Given the description of an element on the screen output the (x, y) to click on. 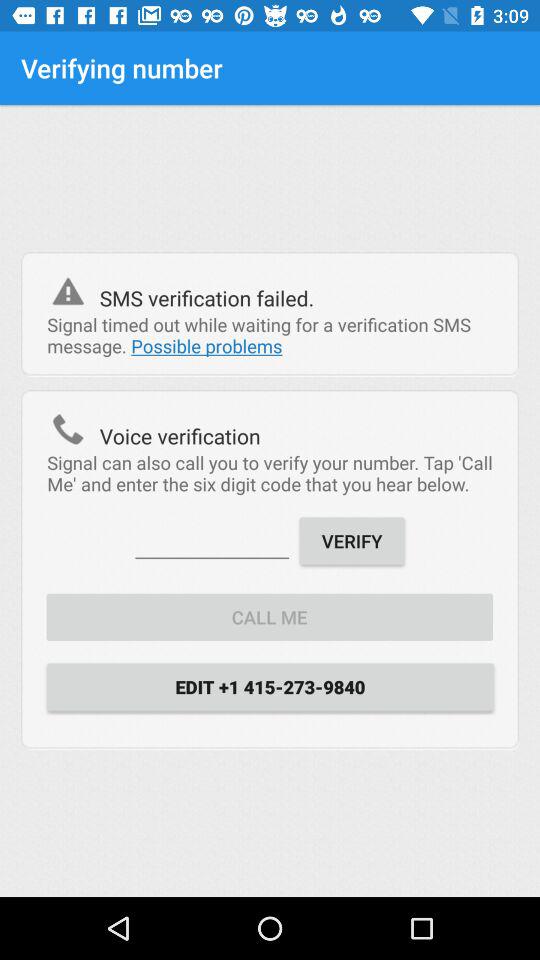
enter six digit code (212, 539)
